Given the description of an element on the screen output the (x, y) to click on. 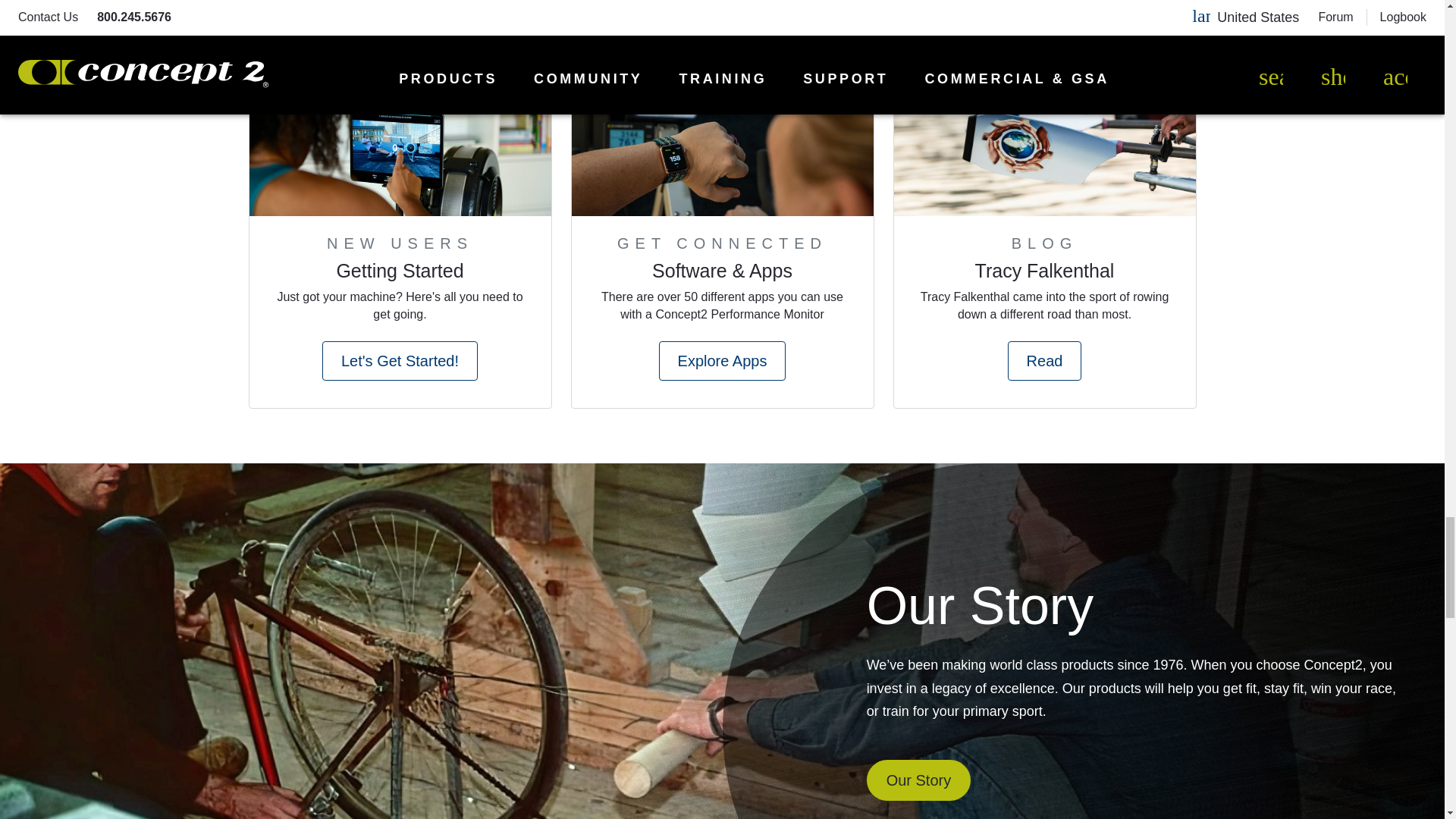
Explore Apps (722, 360)
Our Story (918, 780)
Getting Started (399, 273)
Tracy Falkenthal (1045, 273)
Let's Get Started! (399, 360)
Oar blade shown above water (1044, 138)
Read (1044, 360)
